Given the description of an element on the screen output the (x, y) to click on. 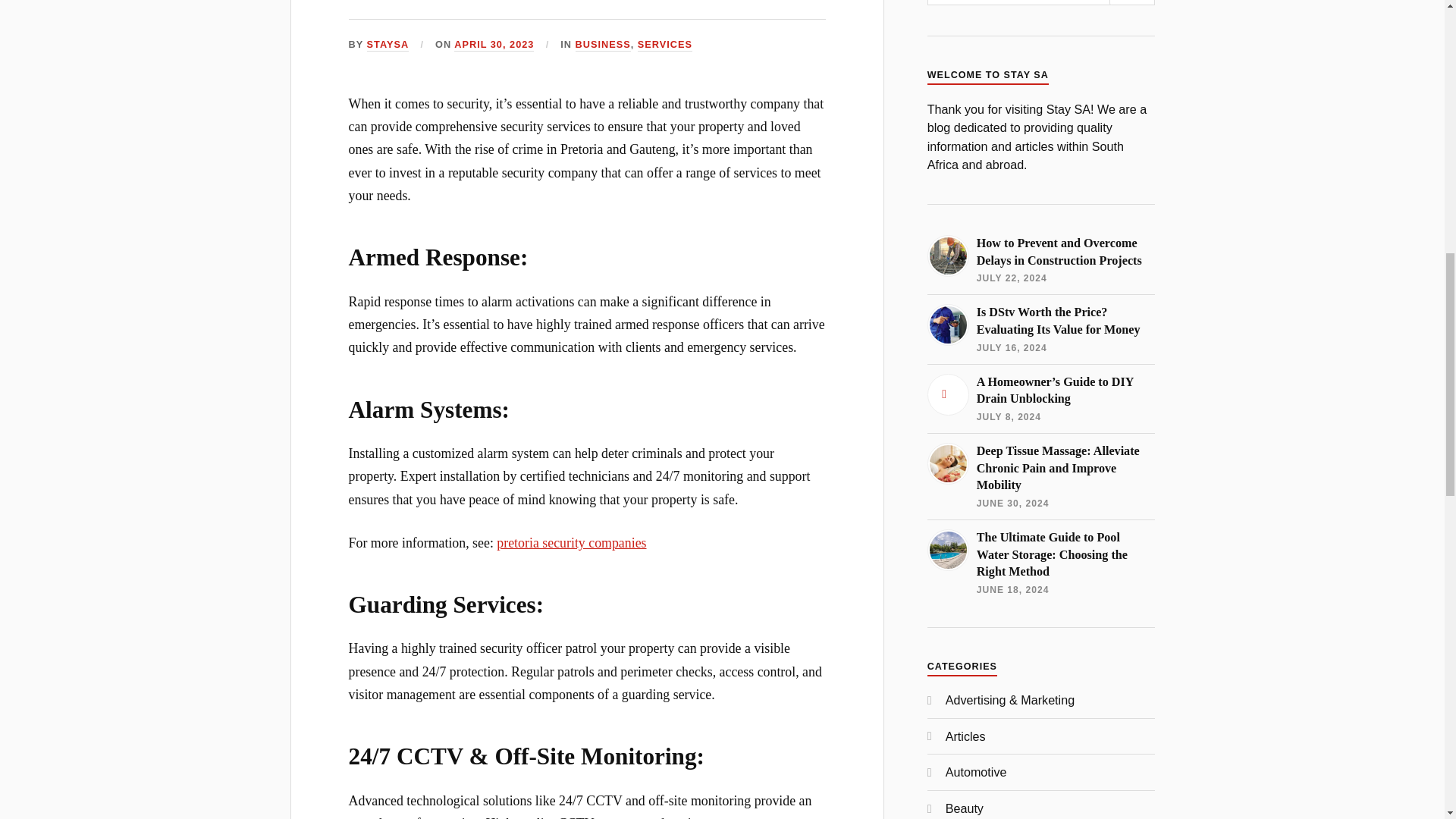
BUSINESS (602, 44)
SERVICES (665, 44)
APRIL 30, 2023 (494, 44)
pretoria security companies (571, 542)
Posts by StaySA (387, 44)
STAYSA (387, 44)
